Given the description of an element on the screen output the (x, y) to click on. 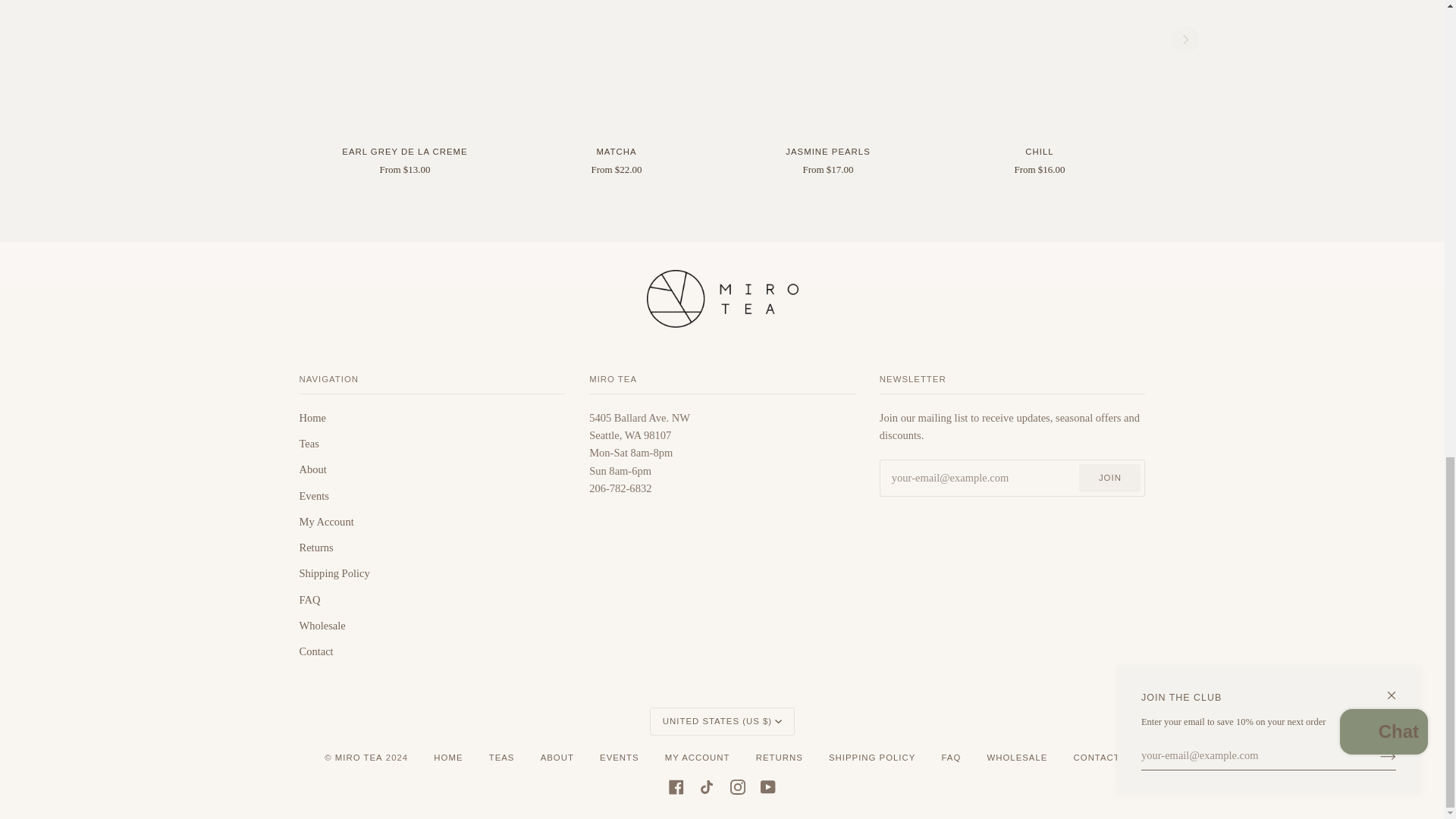
YouTube (768, 786)
Facebook (676, 786)
Tiktok (706, 786)
Instagram (737, 786)
